Given the description of an element on the screen output the (x, y) to click on. 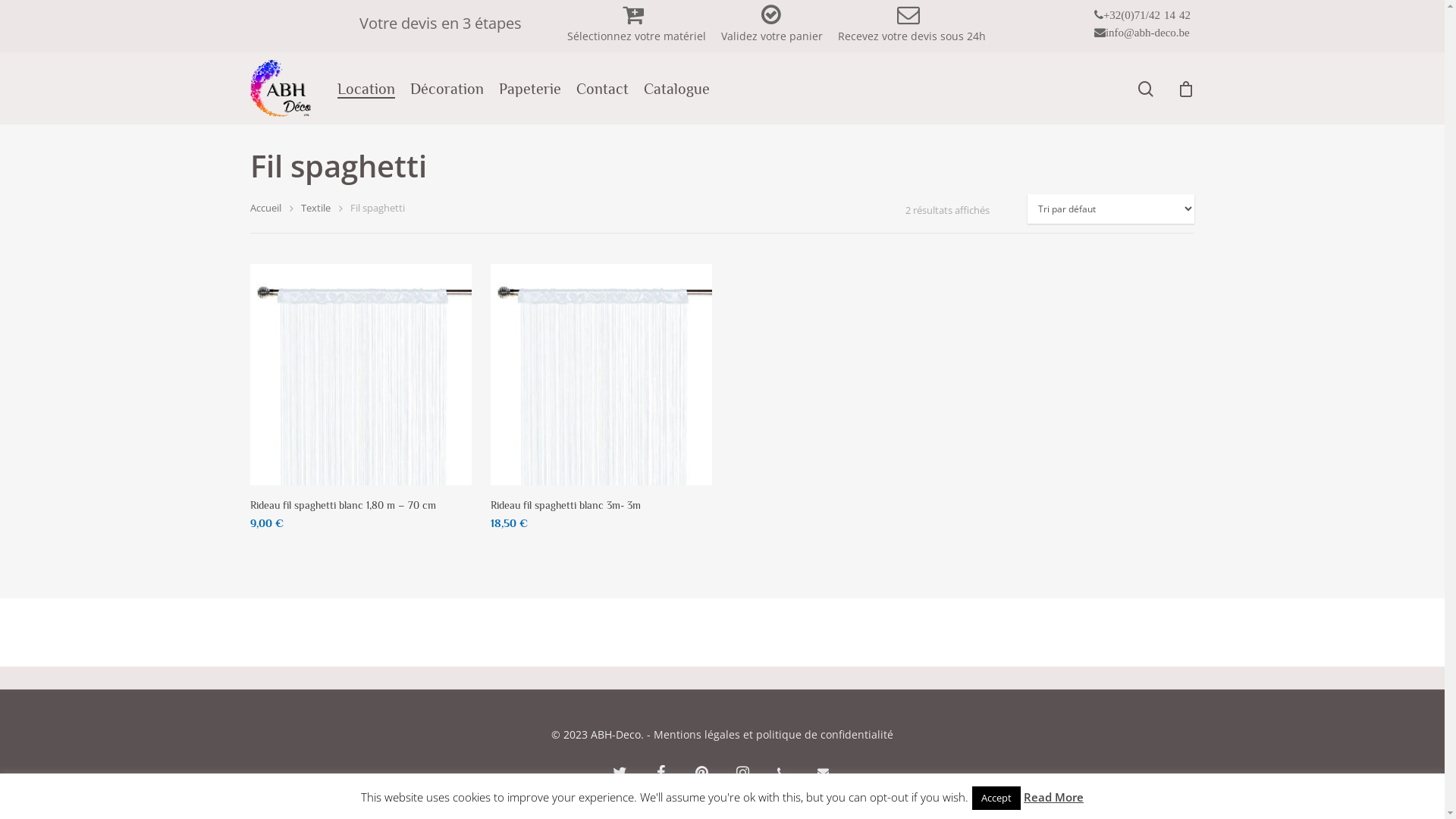
Recevez votre devis sous 24h Element type: text (911, 26)
Contact Element type: text (602, 87)
  Element type: text (1040, 15)
Location Element type: text (366, 87)
+32(0)71/42 14 42
info@abh-deco.be Element type: text (1144, 24)
Papeterie Element type: text (529, 87)
Read More Element type: text (1053, 796)
Accueil Element type: text (265, 207)
Catalogue Element type: text (676, 87)
Textile Element type: text (315, 207)
Accept Element type: text (996, 797)
Validez votre panier Element type: text (771, 26)
